Given the description of an element on the screen output the (x, y) to click on. 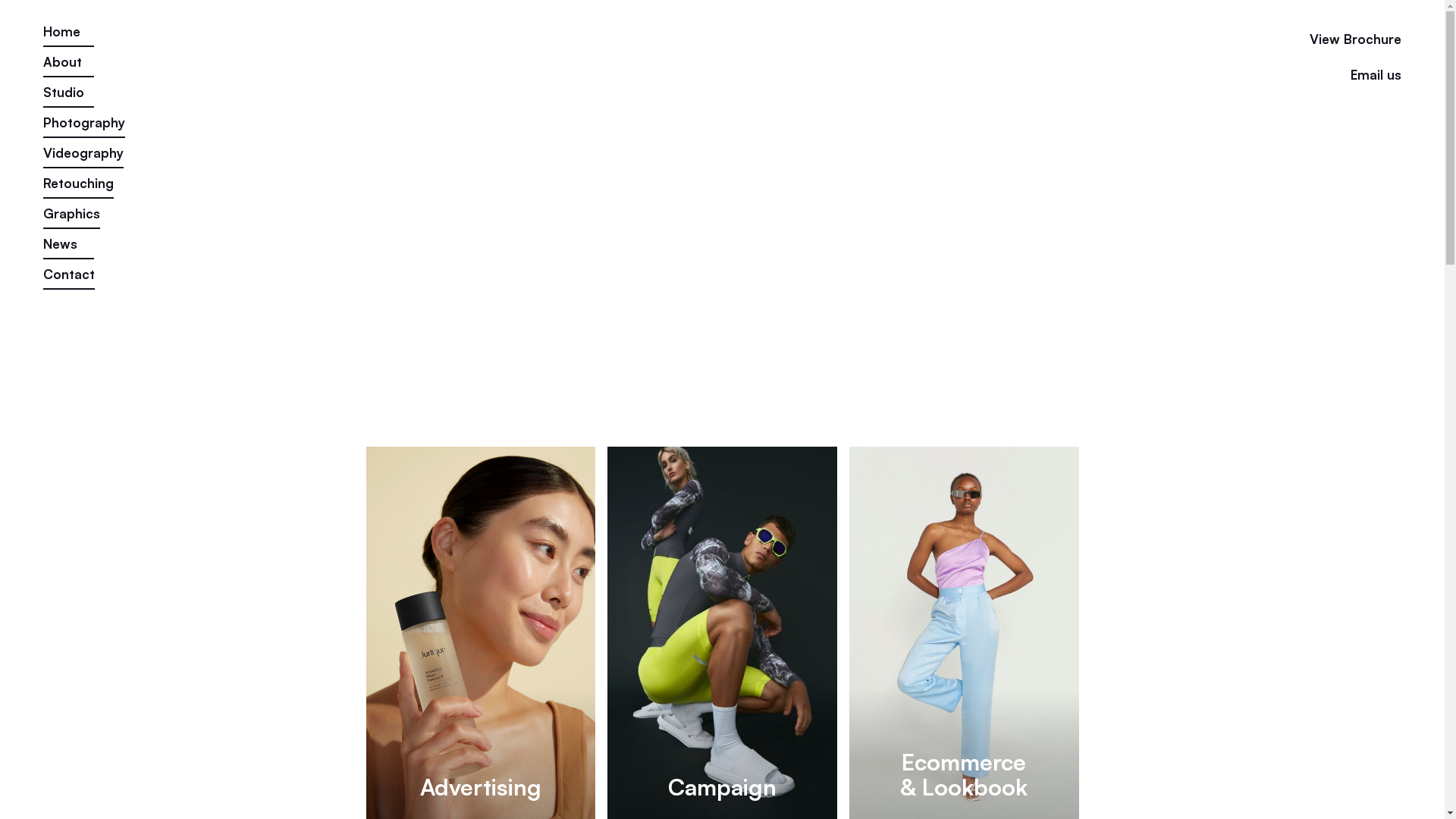
Email us Element type: text (1297, 76)
Graphics
Graphics Element type: text (71, 216)
About
About Element type: text (68, 65)
Home
Home Element type: text (68, 34)
Retouching
Retouching Element type: text (78, 186)
News
News Element type: text (68, 247)
View Brochure Element type: text (1330, 41)
Contact
Contact Element type: text (68, 277)
Photography
Photography Element type: text (84, 125)
Videography
Videography Element type: text (83, 156)
